Given the description of an element on the screen output the (x, y) to click on. 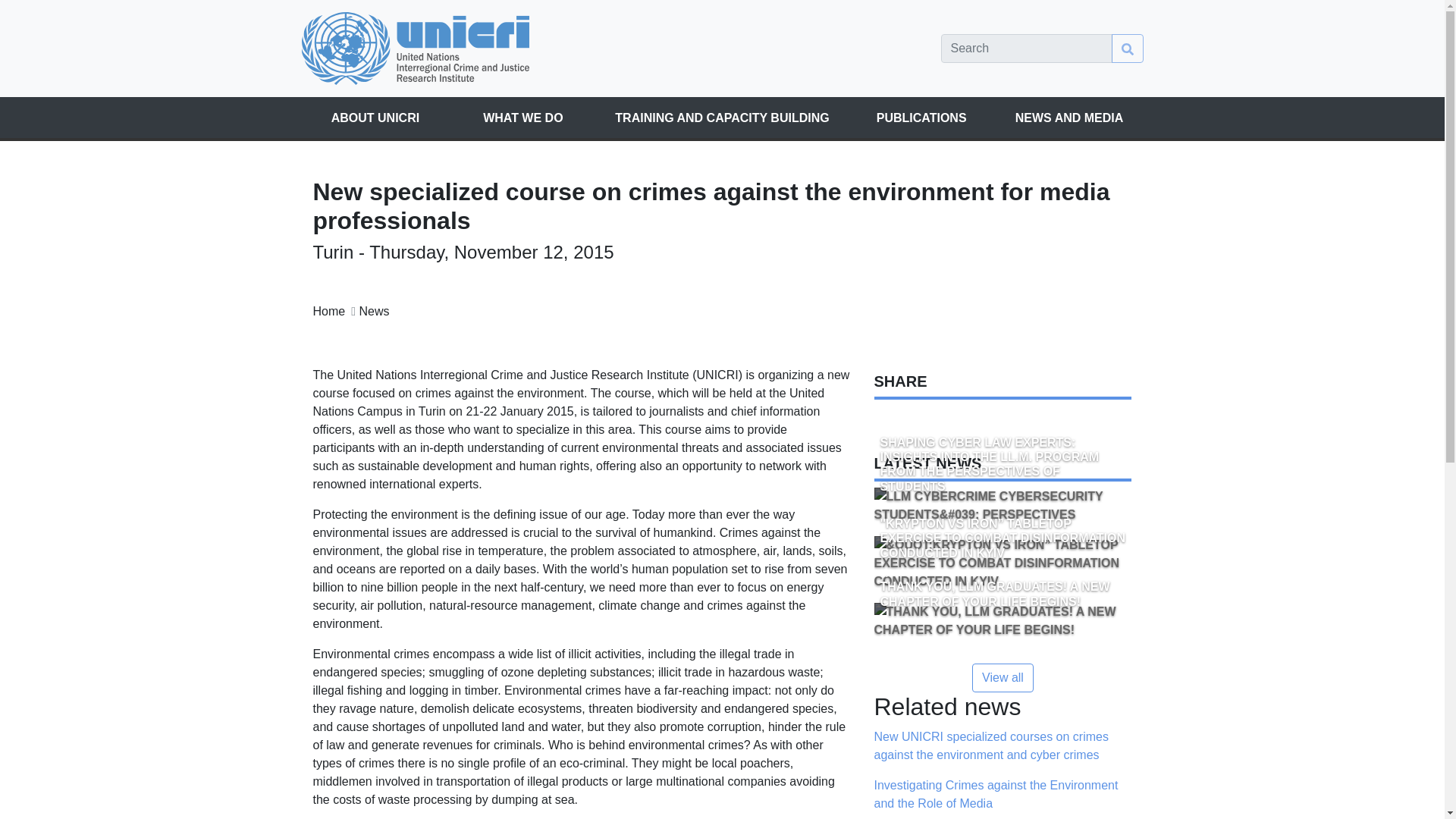
TRAINING AND CAPACITY BUILDING (721, 118)
ABOUT UNICRI (375, 118)
WHAT WE DO (522, 118)
